Given the description of an element on the screen output the (x, y) to click on. 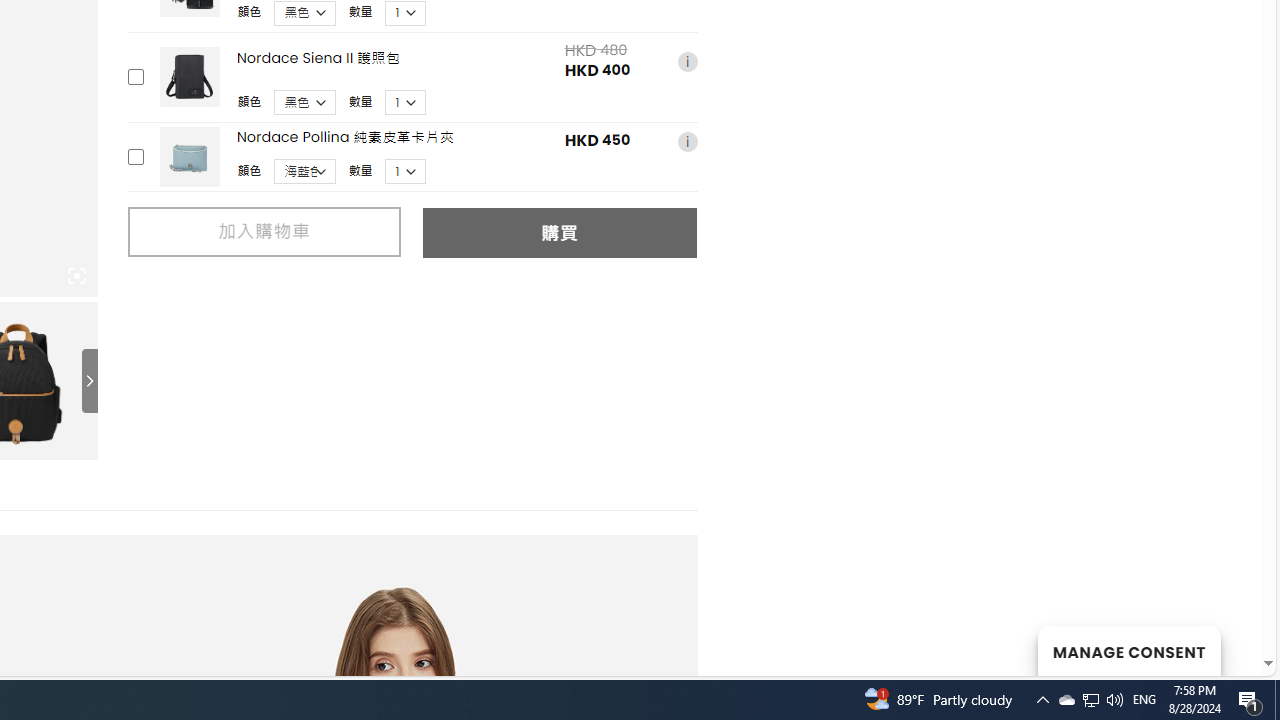
Class: upsell-v2-product-upsell-variable-product-qty-select (406, 172)
Class: iconic-woothumbs-fullscreen (75, 276)
i (687, 141)
MANAGE CONSENT (1128, 650)
Add this product to cart (134, 156)
